Given the description of an element on the screen output the (x, y) to click on. 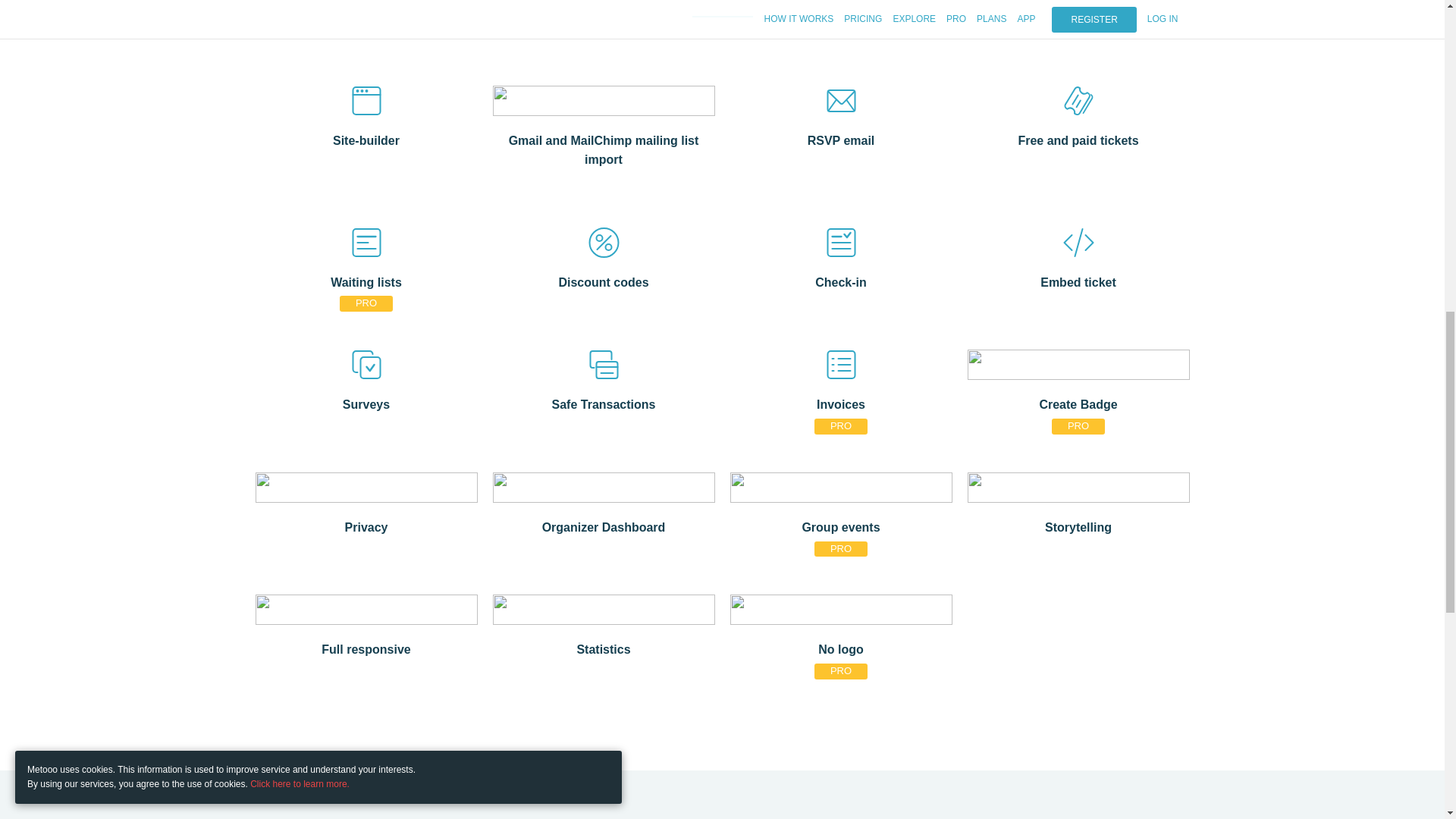
Embed ticket (1078, 280)
Group events (840, 525)
Site-builder (365, 138)
RSVP email (840, 138)
Full responsive (365, 647)
Free and paid tickets (1078, 138)
Surveys (365, 403)
Safe Transactions (603, 403)
No logo (840, 647)
Gmail and MailChimp mailing list import (603, 148)
